Given the description of an element on the screen output the (x, y) to click on. 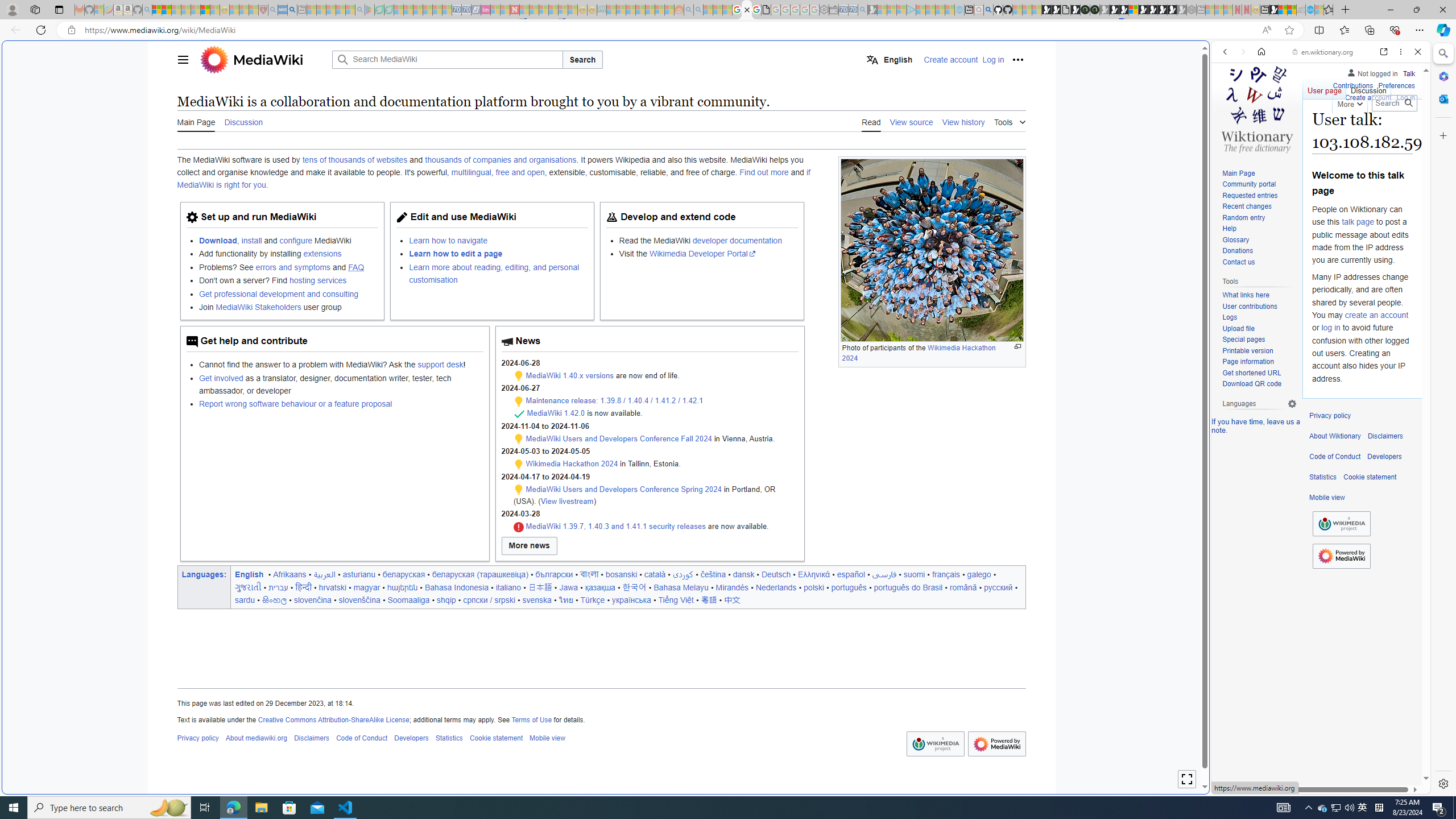
MediaWiki (262, 59)
Recent changes (1246, 206)
Personal tools (1017, 59)
Read the MediaWiki developer documentation (707, 239)
extensions (322, 253)
